Given the description of an element on the screen output the (x, y) to click on. 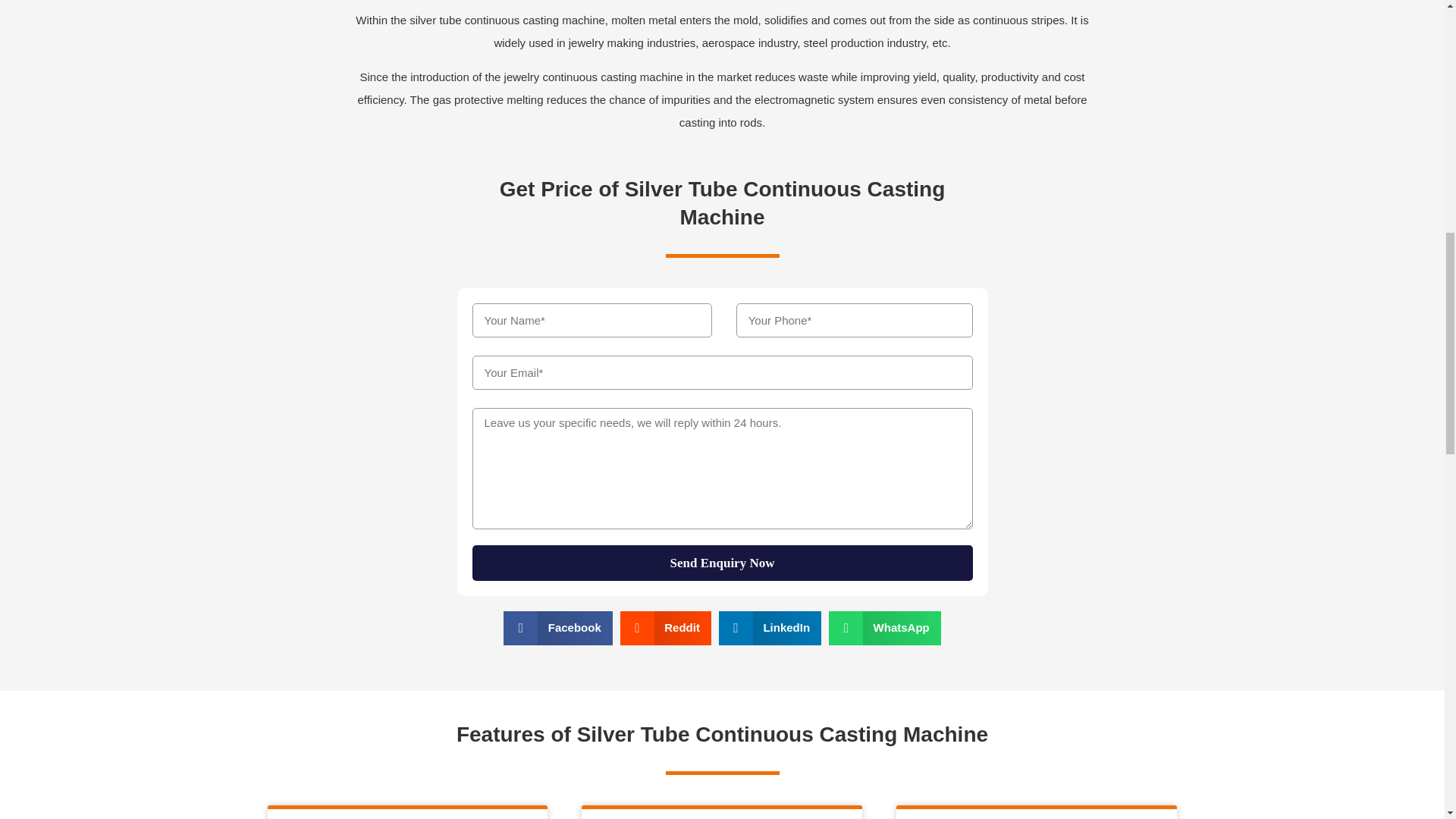
Send Enquiry Now (721, 562)
